Given the description of an element on the screen output the (x, y) to click on. 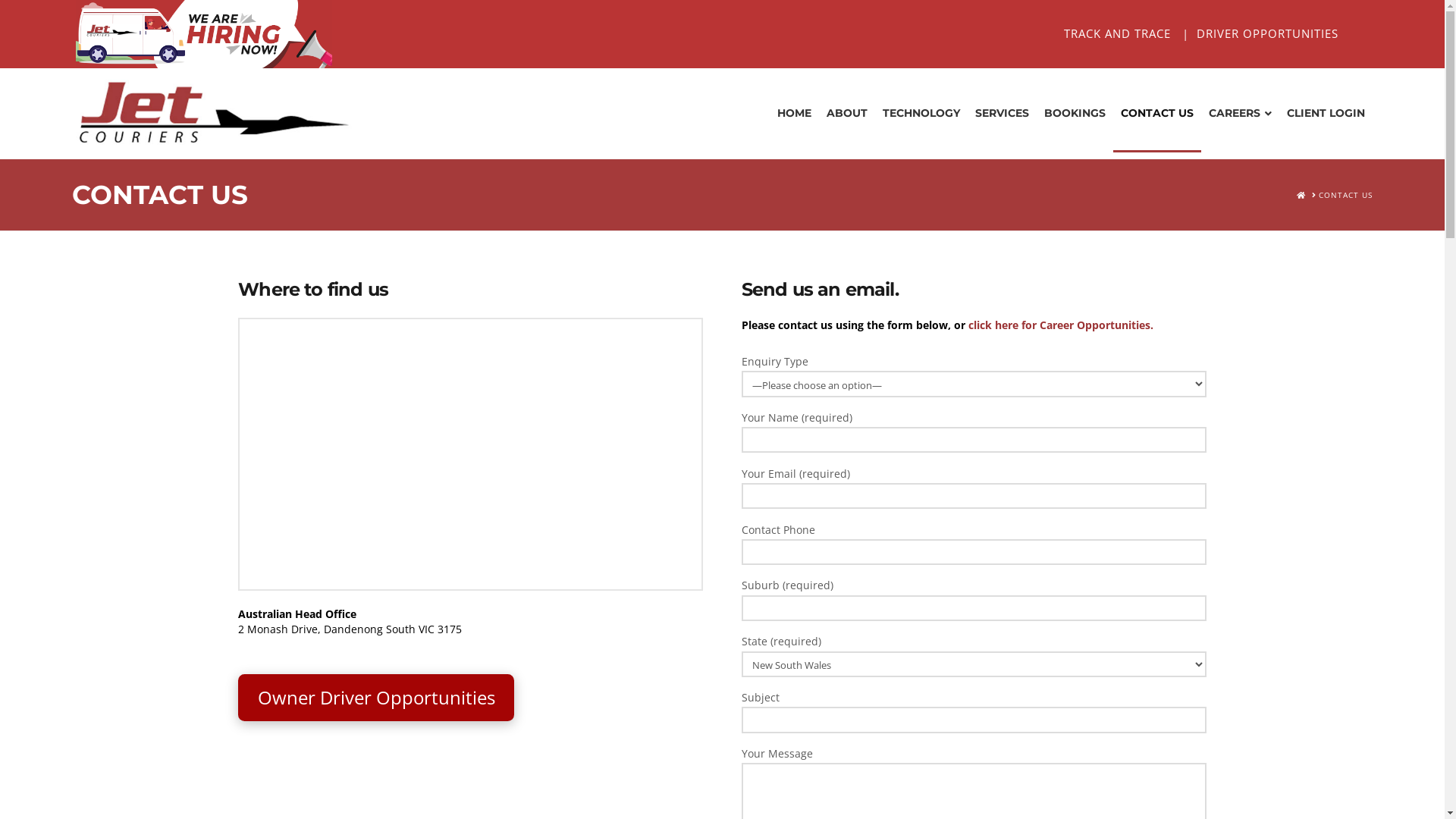
DRIVER OPPORTUNITIES Element type: text (1269, 32)
BOOKINGS Element type: text (1074, 112)
click here for Career Opportunities. Element type: text (1060, 324)
CLIENT LOGIN Element type: text (1325, 112)
TECHNOLOGY Element type: text (921, 112)
HOME Element type: text (794, 112)
Owner Driver Opportunities Element type: text (376, 697)
TRACK AND TRACE Element type: text (1119, 32)
SERVICES Element type: text (1001, 112)
CONTACT US Element type: text (1345, 195)
CONTACT US Element type: text (1157, 112)
ABOUT Element type: text (847, 112)
HOME Element type: text (1300, 195)
